Given the description of an element on the screen output the (x, y) to click on. 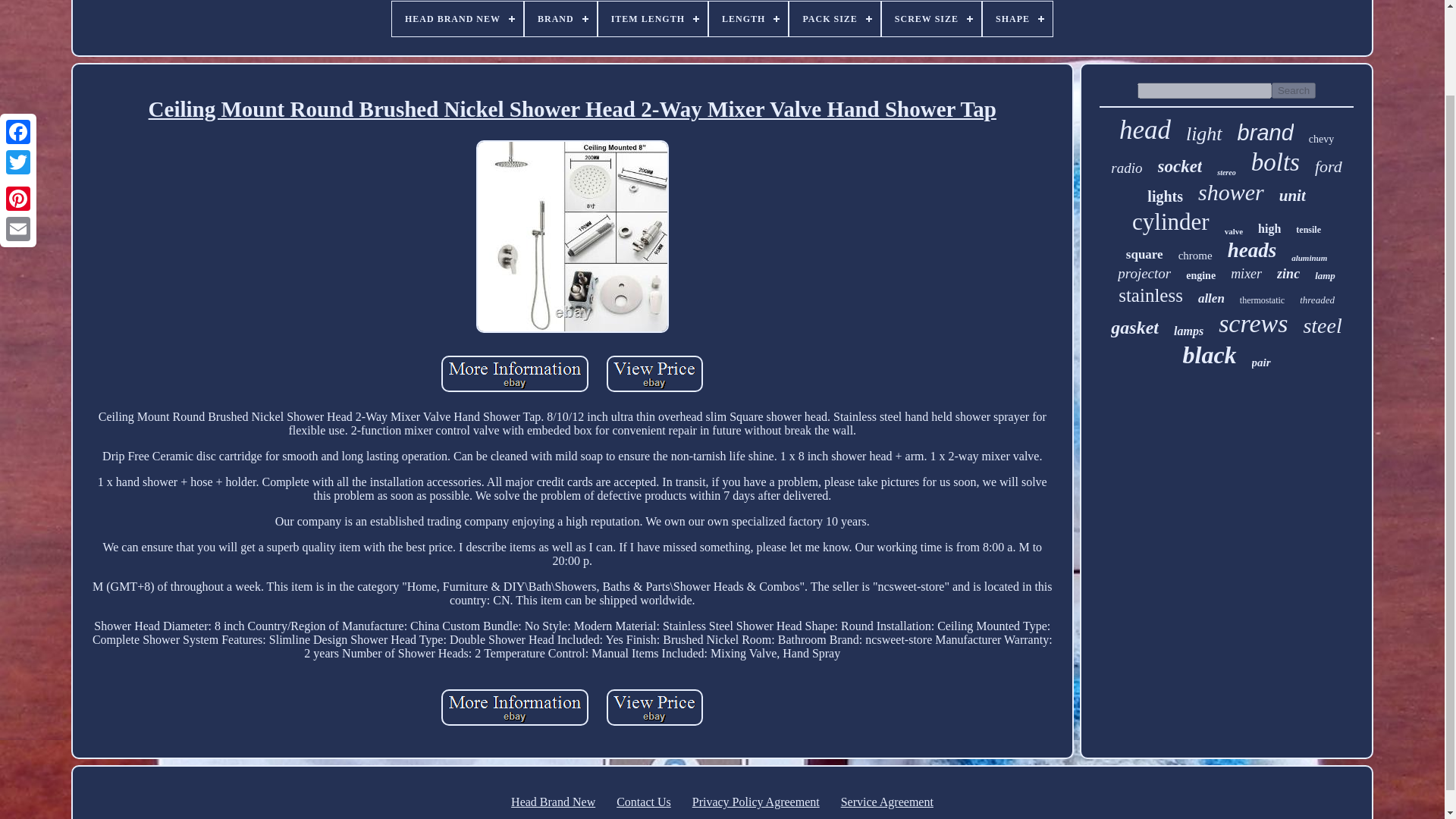
BRAND (560, 18)
Twitter (17, 62)
ITEM LENGTH (652, 18)
HEAD BRAND NEW (456, 18)
Search (1293, 90)
